Given the description of an element on the screen output the (x, y) to click on. 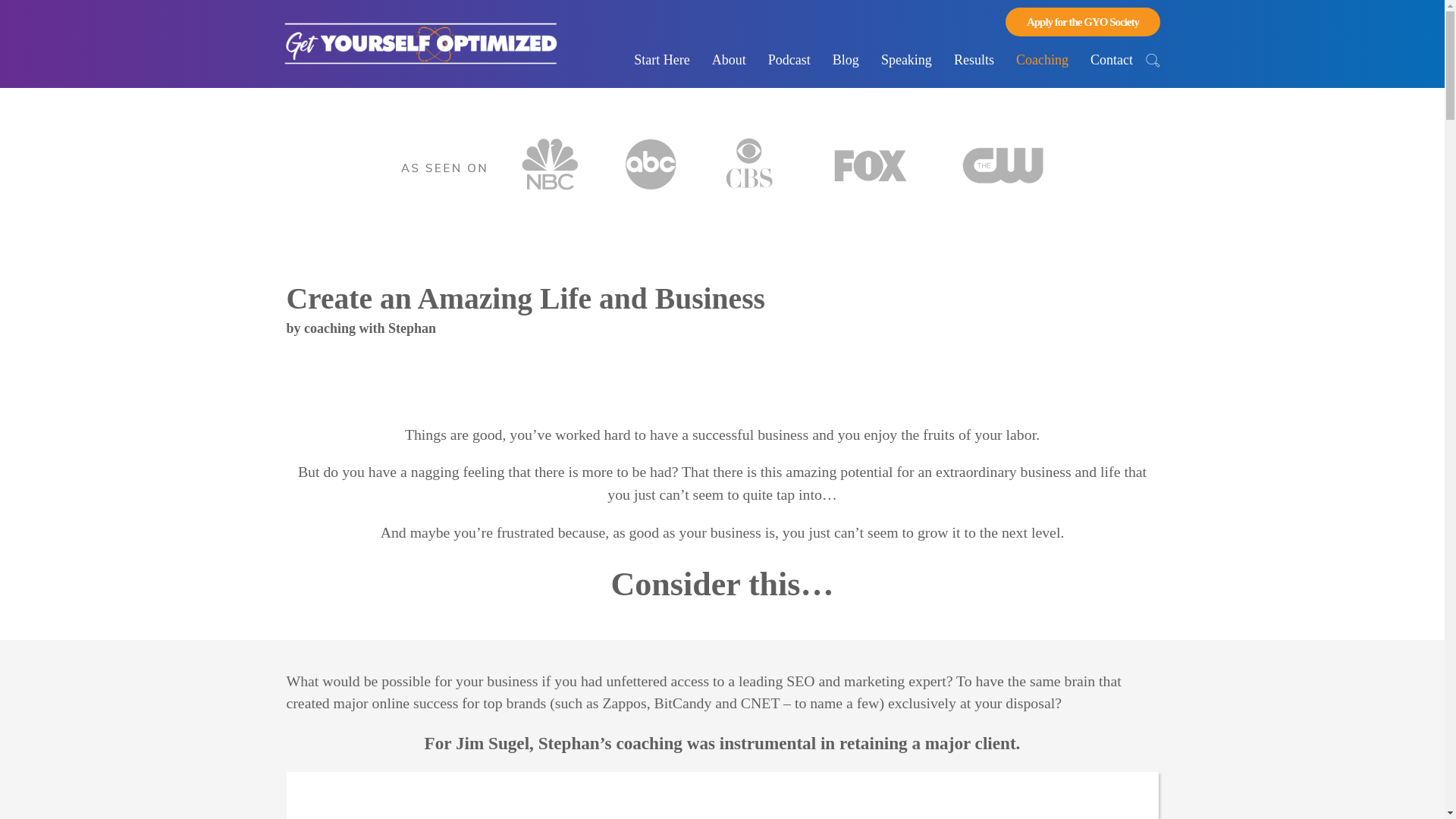
About (729, 60)
Blog (845, 60)
Contact (1111, 60)
Speaking (906, 60)
Results (973, 60)
Coaching (1042, 60)
Podcast (788, 60)
Apply for the GYO Society (1083, 21)
Start Here (661, 60)
